Given the description of an element on the screen output the (x, y) to click on. 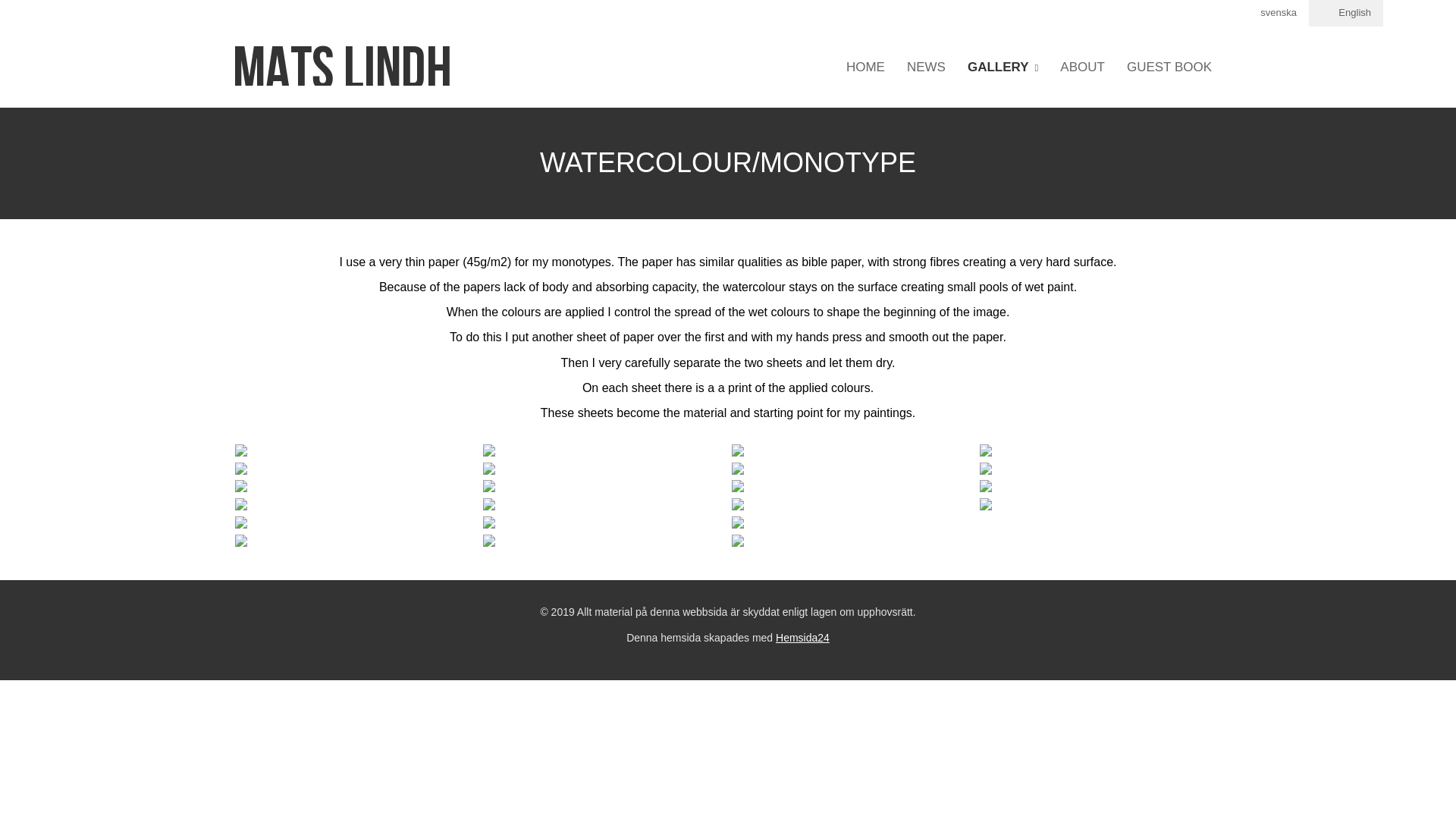
ABOUT (1082, 66)
Hemsida24 (802, 637)
svenska (1269, 13)
HOME (865, 66)
English (1345, 13)
GUEST BOOK (1169, 66)
NEWS (926, 66)
